Given the description of an element on the screen output the (x, y) to click on. 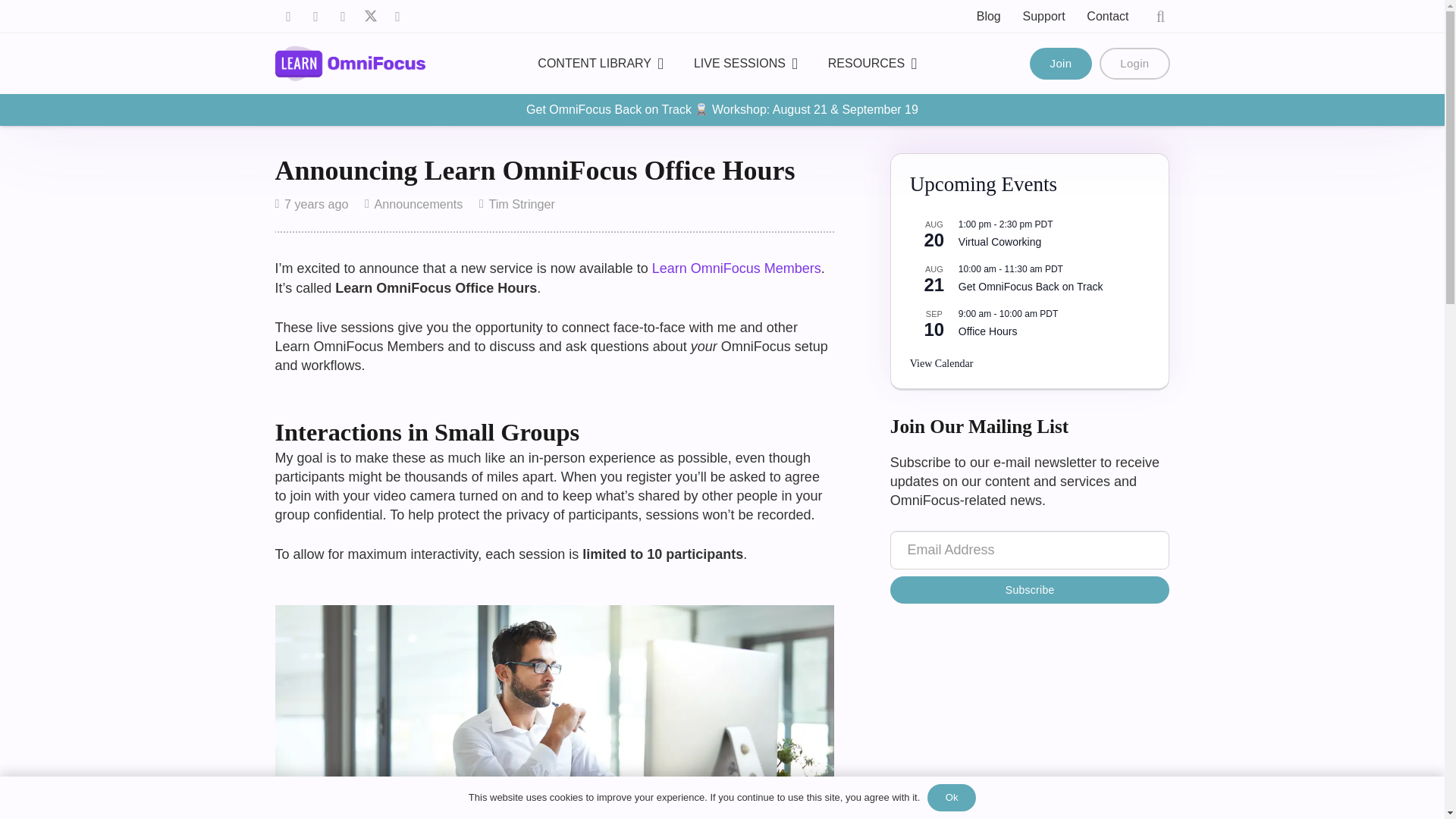
YouTube (397, 16)
RESOURCES (871, 63)
LinkedIn (315, 16)
Mastodon (342, 16)
Join (1061, 63)
LIVE SESSIONS (745, 63)
Learn OmniFocus Members (736, 268)
Support (1044, 15)
CONTENT LIBRARY (600, 63)
Facebook (288, 16)
